Given the description of an element on the screen output the (x, y) to click on. 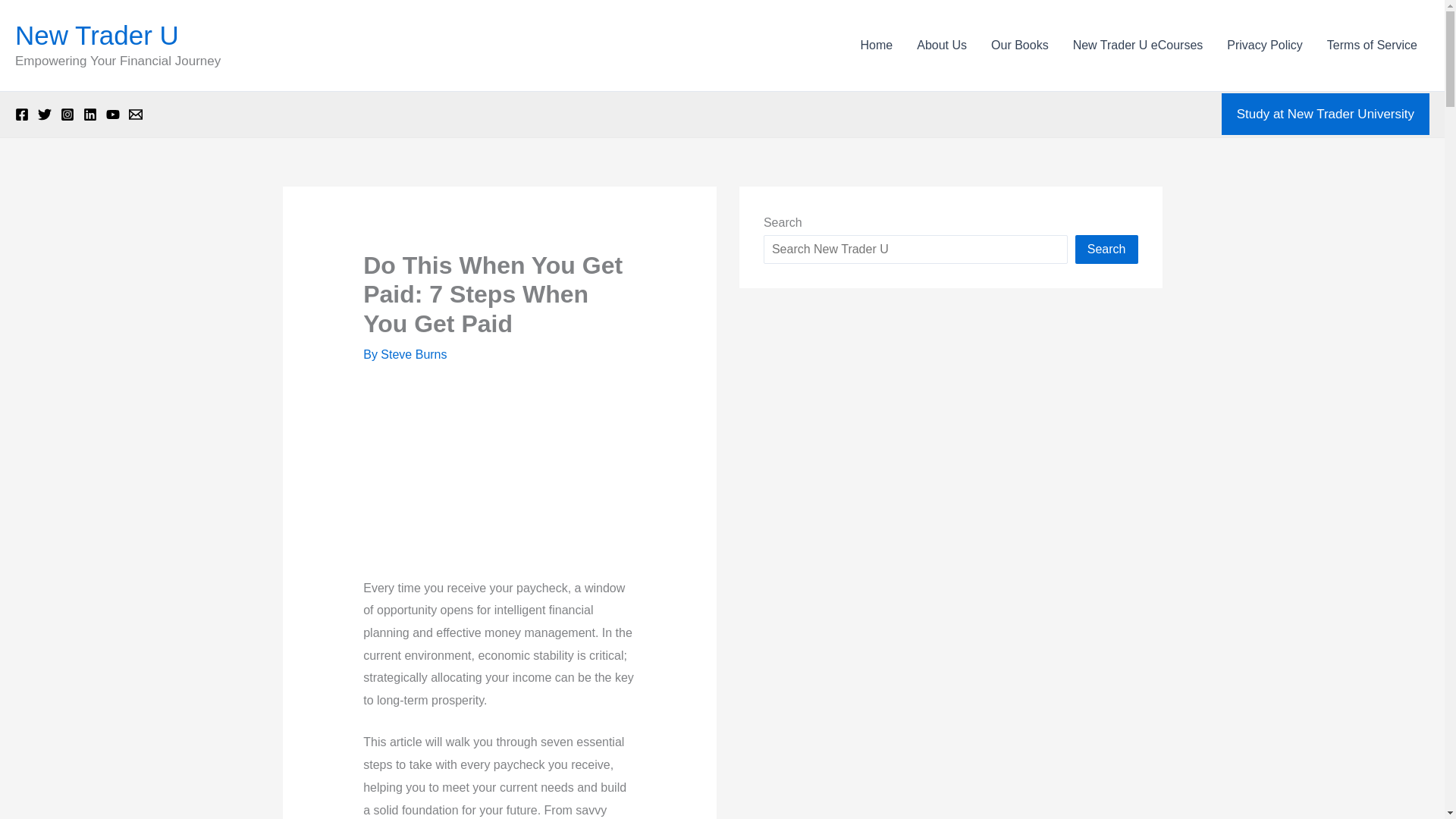
Do This When You Get Paid: 7 Steps When You Get Paid 2 (498, 461)
Our Books (1019, 45)
New Trader U (96, 34)
View all posts by Steve Burns (413, 354)
New Trader U eCourses (1138, 45)
Study at New Trader University (1325, 114)
Steve Burns (413, 354)
Home (876, 45)
Terms of Service (1371, 45)
About Us (941, 45)
